Given the description of an element on the screen output the (x, y) to click on. 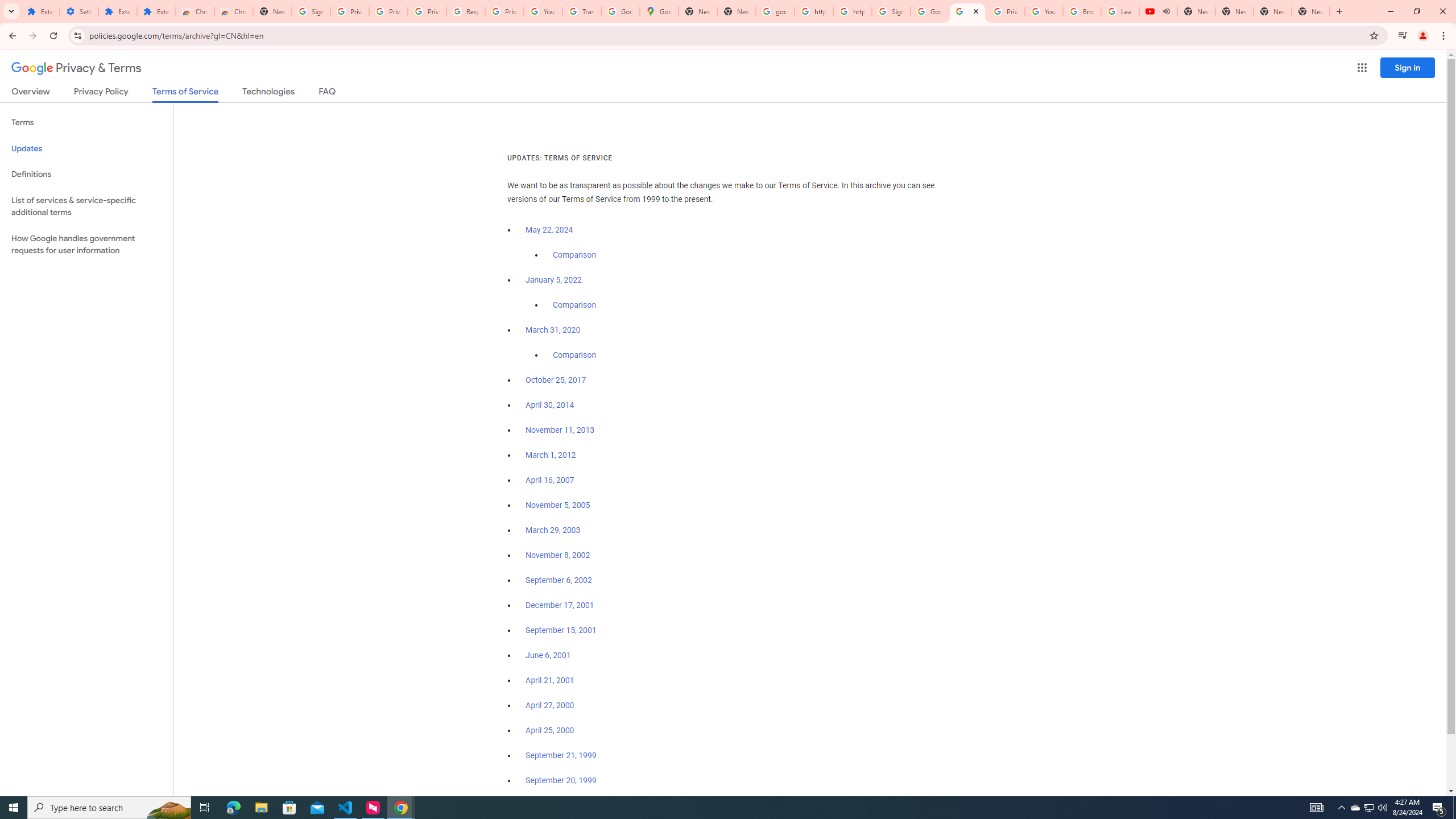
Chrome Web Store (194, 11)
Chrome Web Store - Themes (233, 11)
April 16, 2007 (550, 480)
How Google handles government requests for user information (86, 244)
Extensions (40, 11)
June 6, 2001 (547, 655)
